Given the description of an element on the screen output the (x, y) to click on. 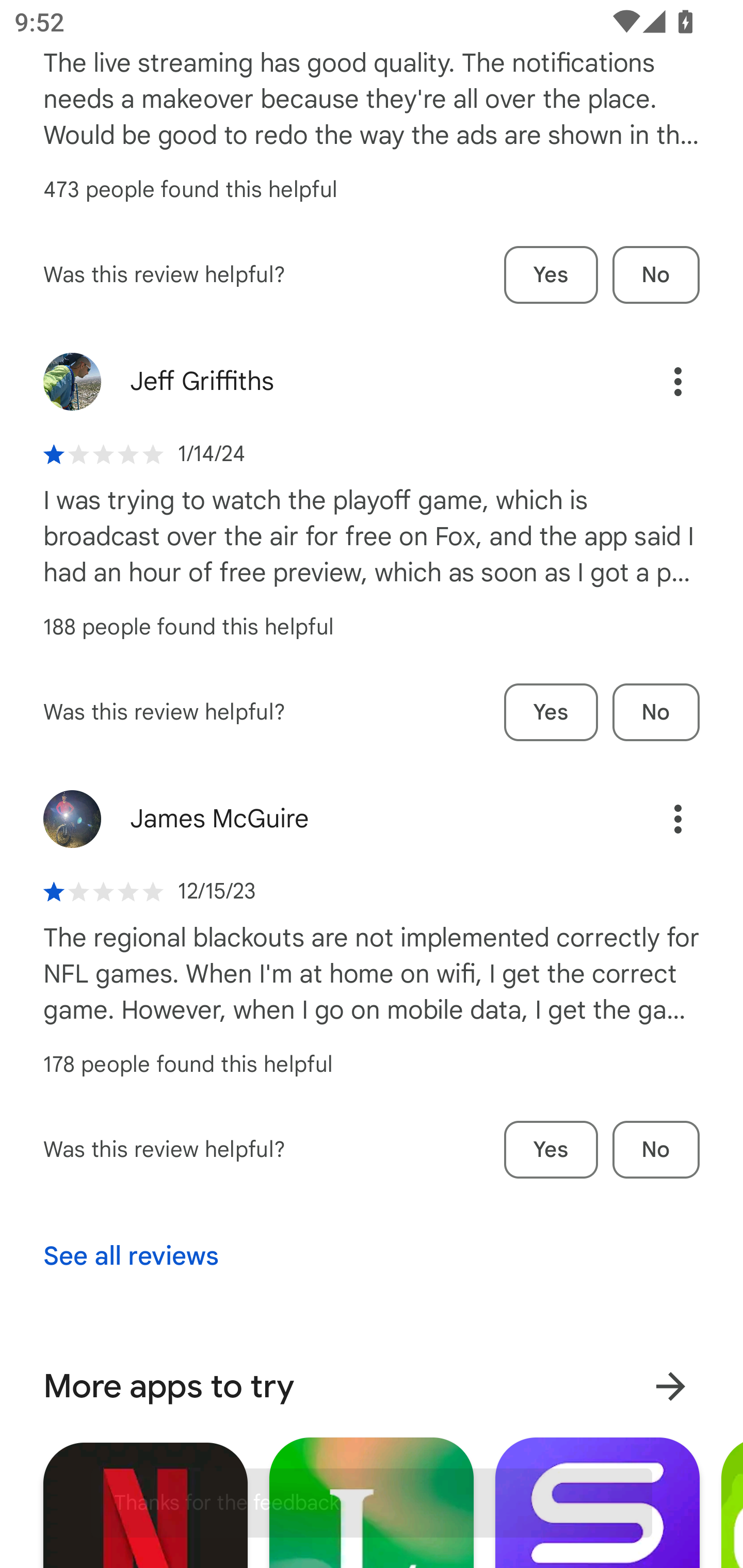
Yes (550, 275)
No (655, 275)
Options (655, 381)
Yes (550, 712)
No (655, 712)
Options (655, 819)
Yes (550, 1150)
No (655, 1150)
See all reviews (130, 1256)
More apps to try More results for More apps to try (371, 1385)
More results for More apps to try (670, 1386)
